Given the description of an element on the screen output the (x, y) to click on. 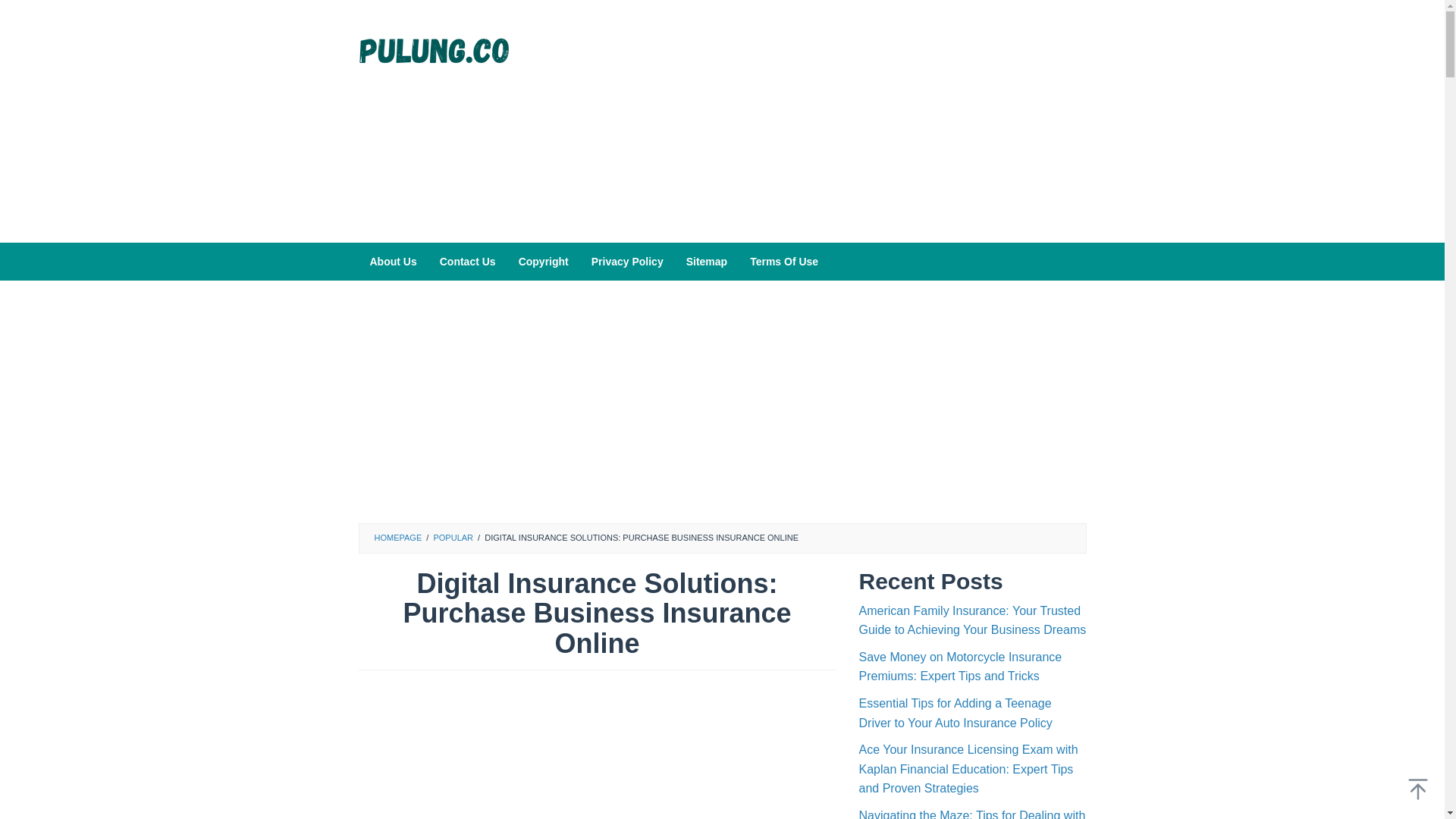
PULUNG.CO (433, 47)
Advertisement (596, 752)
Sitemap (706, 261)
Terms Of Use (783, 261)
Copyright (542, 261)
Privacy Policy (627, 261)
HOMEPAGE (398, 537)
Advertisement (809, 121)
Contact Us (467, 261)
